Given the description of an element on the screen output the (x, y) to click on. 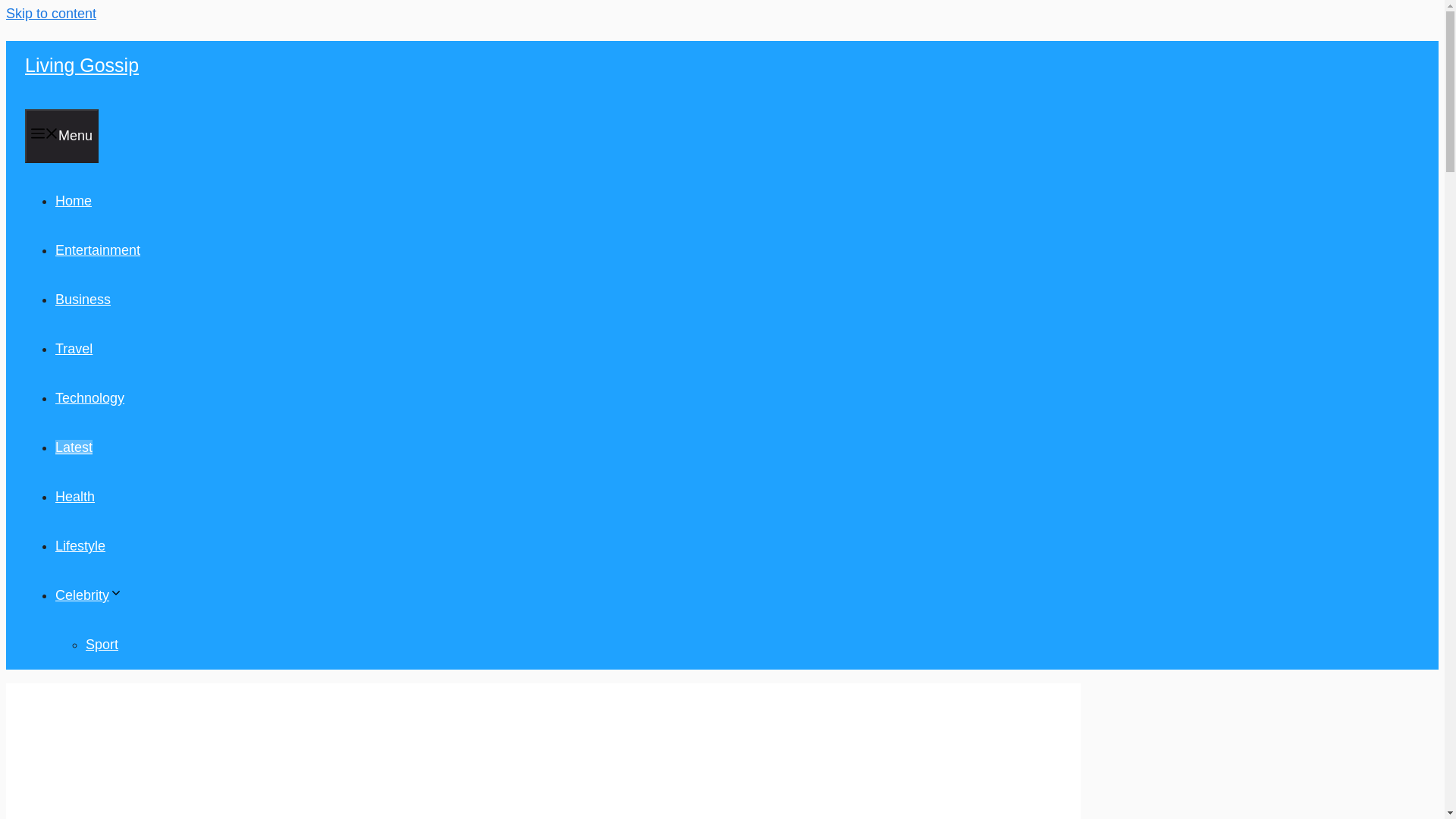
Living Gossip (81, 65)
Lifestyle (79, 545)
Celebrity (88, 595)
Latest (74, 447)
Home (73, 200)
Skip to content (50, 13)
Sport (101, 644)
Menu (61, 135)
Business (82, 299)
Travel (74, 348)
